Given the description of an element on the screen output the (x, y) to click on. 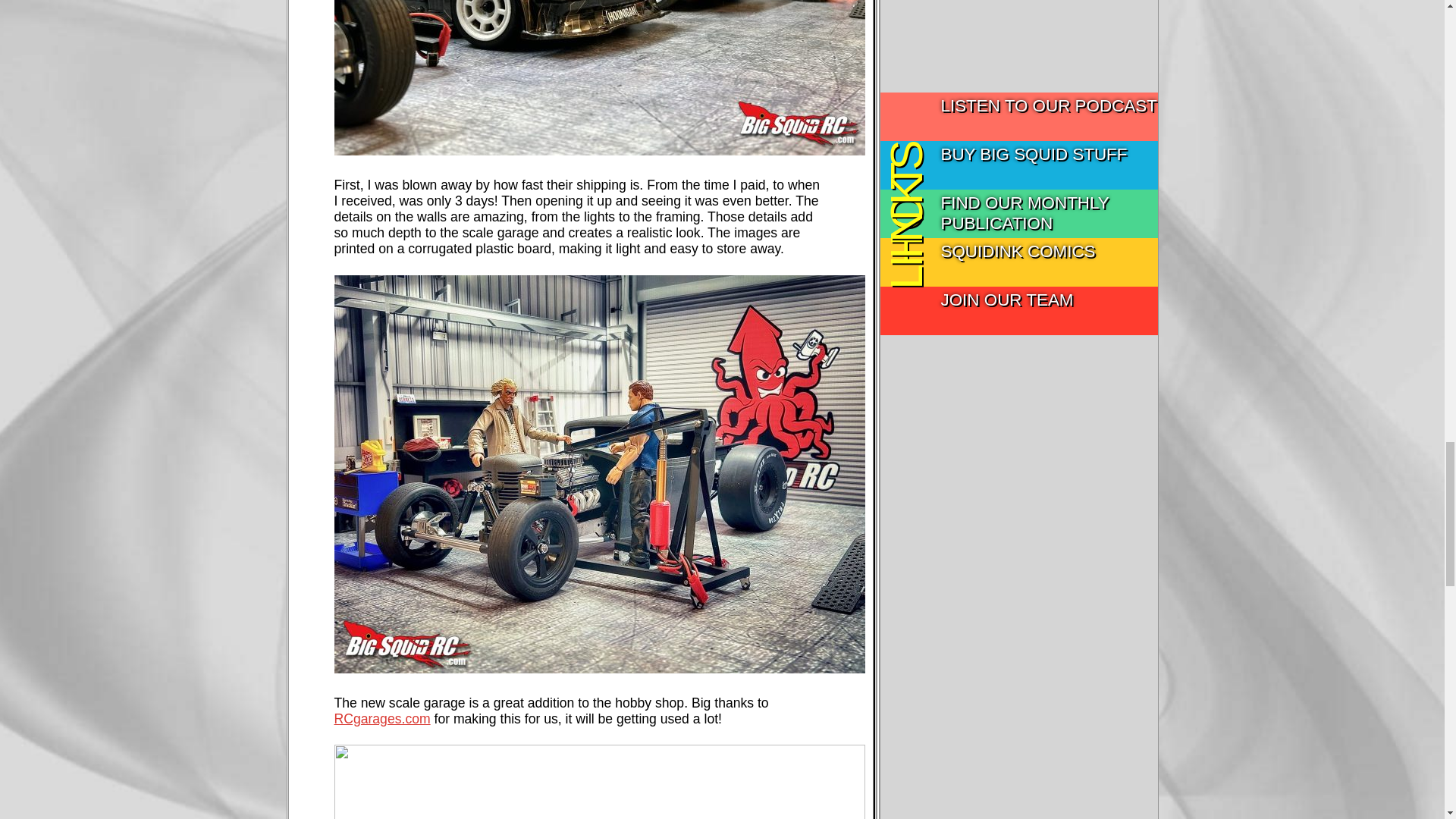
RCgarages.com (381, 718)
